Given the description of an element on the screen output the (x, y) to click on. 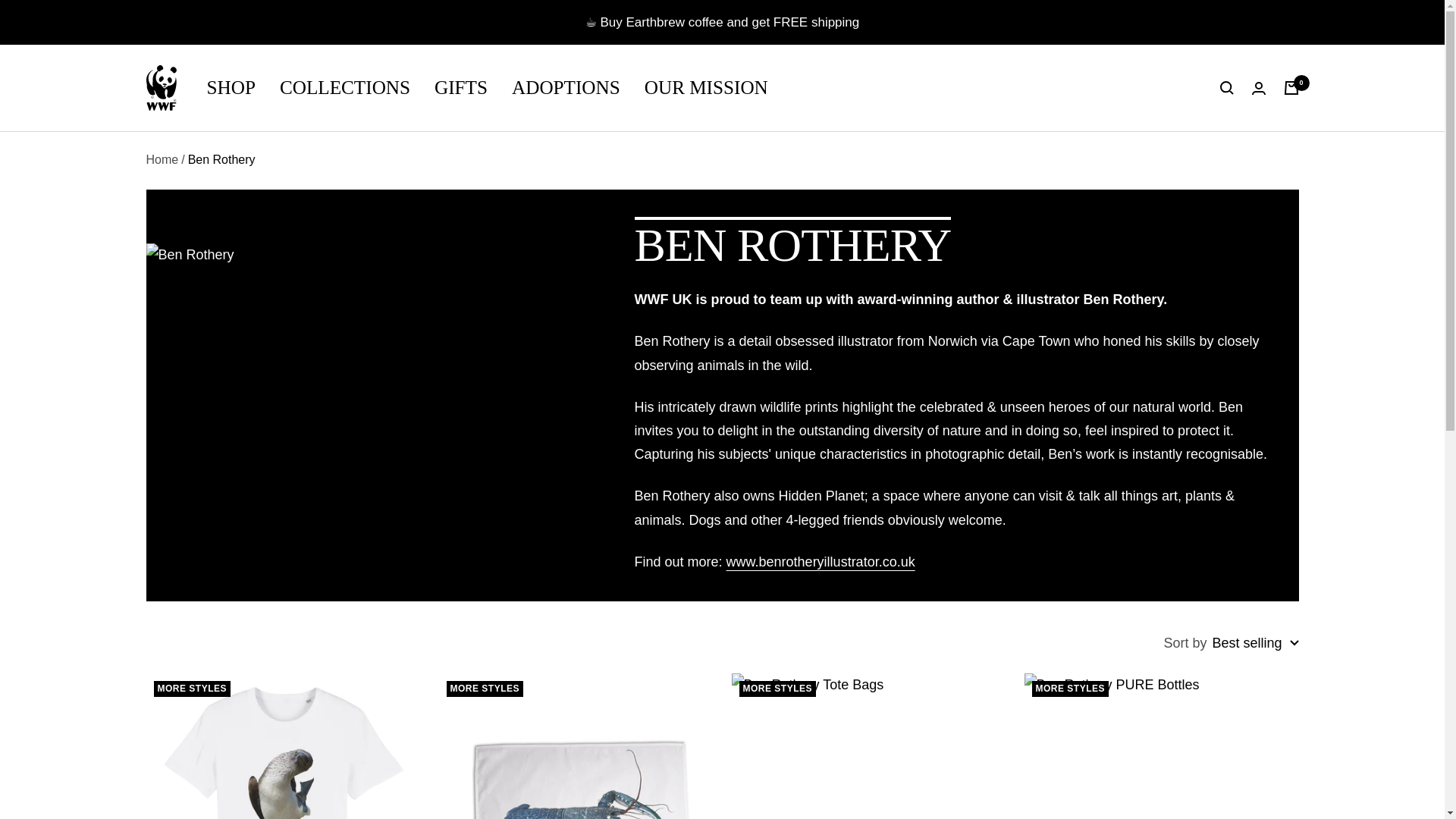
ADOPTIONS (566, 87)
SHOP (230, 87)
GIFTS (460, 87)
OUR MISSION (706, 87)
0 (1290, 88)
Best selling (1254, 643)
Home (161, 159)
COLLECTIONS (344, 87)
www.benrotheryillustrator.co.uk (820, 561)
